Given the description of an element on the screen output the (x, y) to click on. 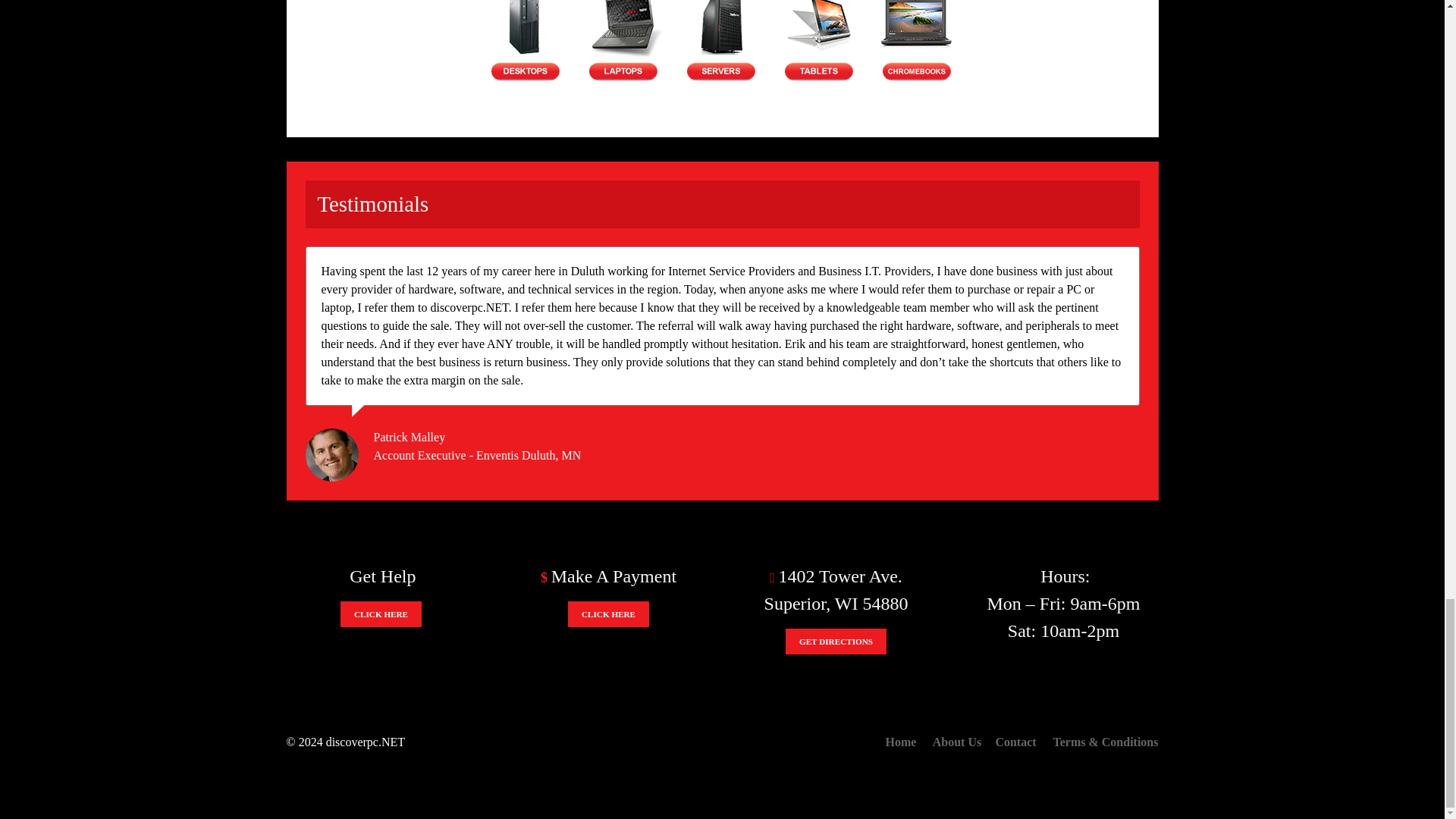
Servers (720, 34)
Tablets (818, 34)
Chromebooks (916, 34)
Laptops (622, 34)
Desktops (524, 34)
